Given the description of an element on the screen output the (x, y) to click on. 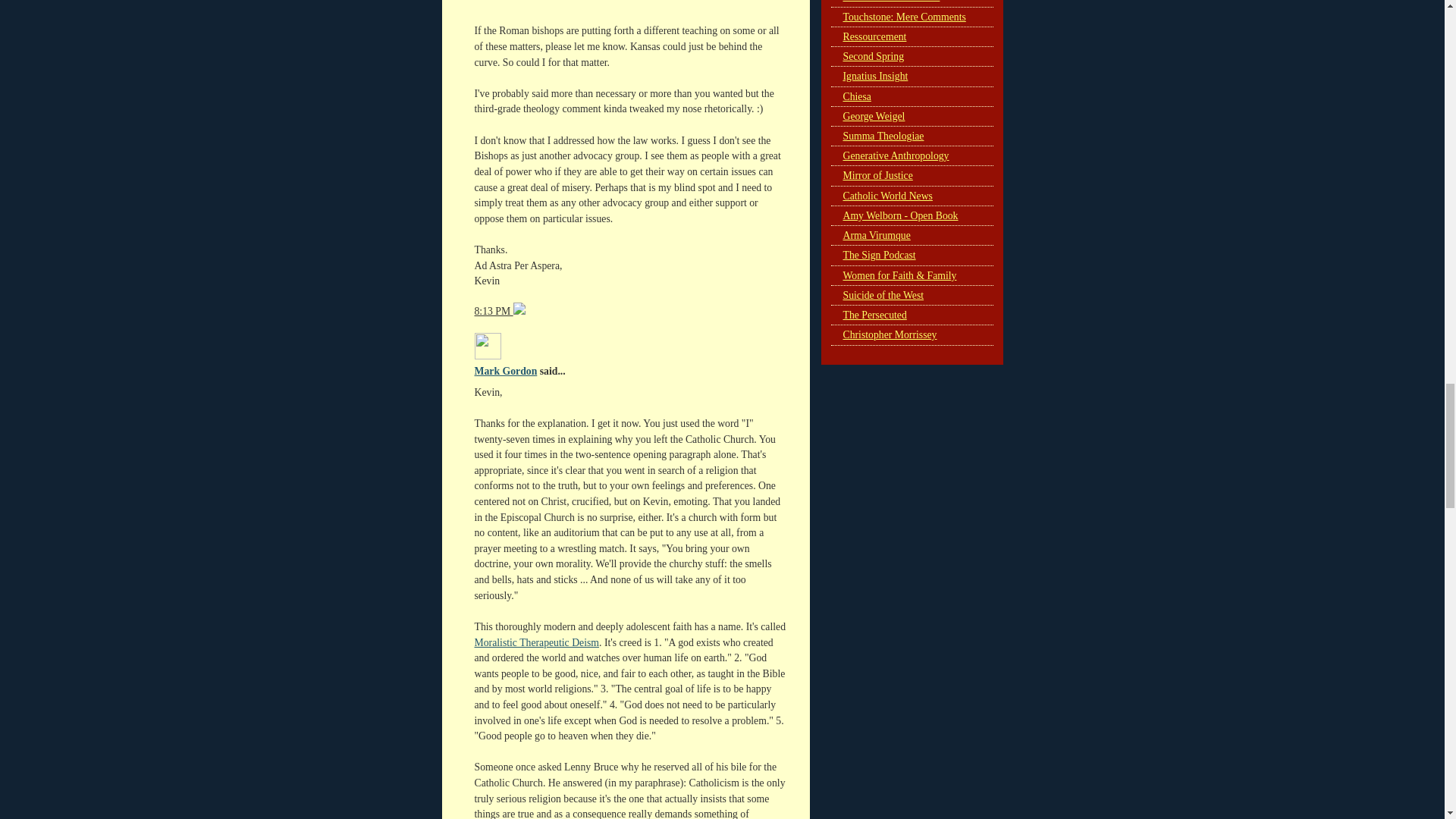
comment permalink (493, 310)
8:13 PM (493, 310)
Mark Gordon (505, 370)
Moralistic Therapeutic Deism (536, 642)
